Given the description of an element on the screen output the (x, y) to click on. 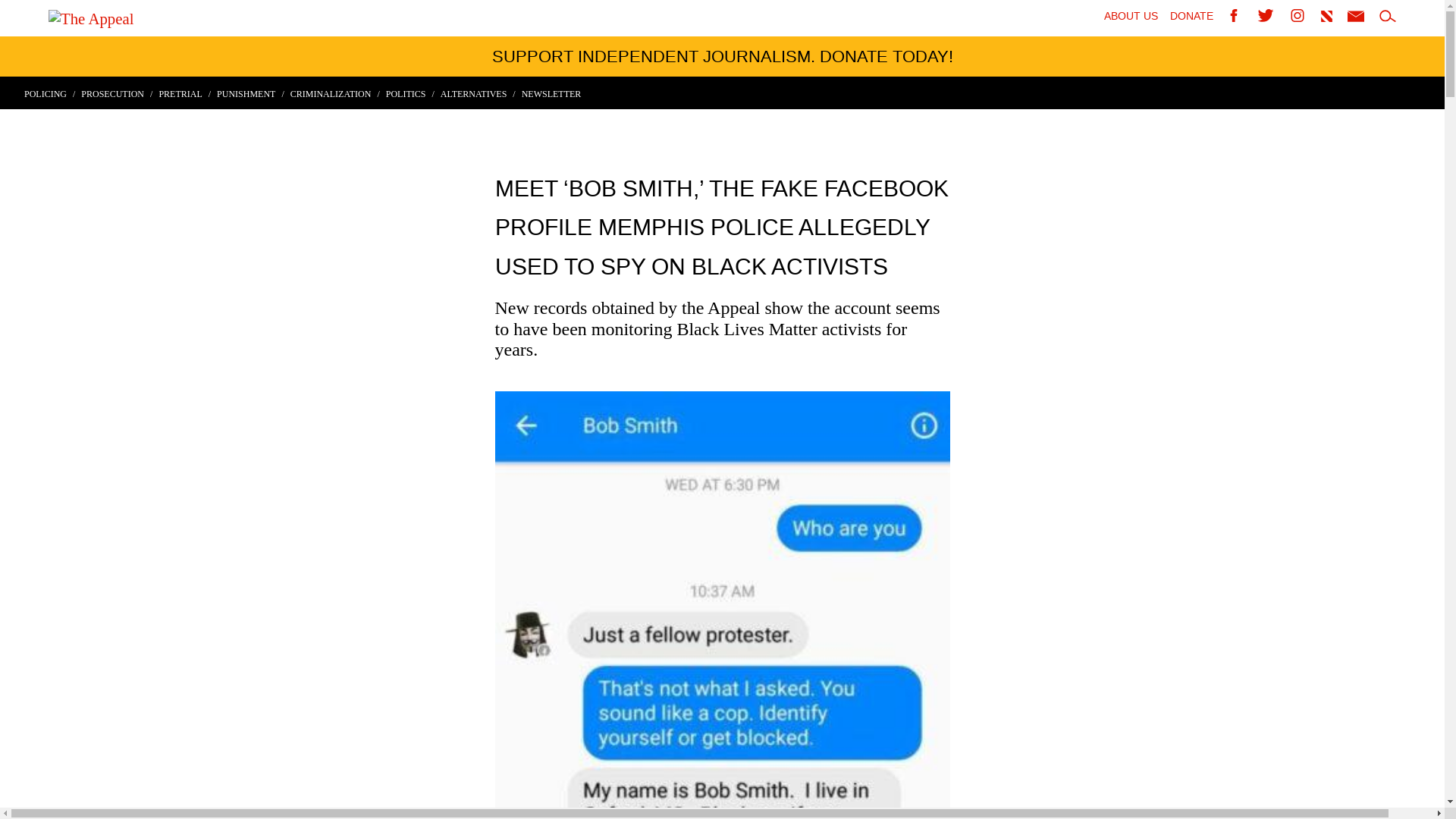
ALTERNATIVES (478, 93)
PRETRIAL (184, 93)
PUNISHMENT (249, 93)
DONATE (1191, 17)
SUPPORT INDEPENDENT JOURNALISM. DONATE TODAY! (722, 56)
POLICING (49, 93)
ABOUT US (1130, 17)
CRIMINALIZATION (334, 93)
PROSECUTION (116, 93)
